Given the description of an element on the screen output the (x, y) to click on. 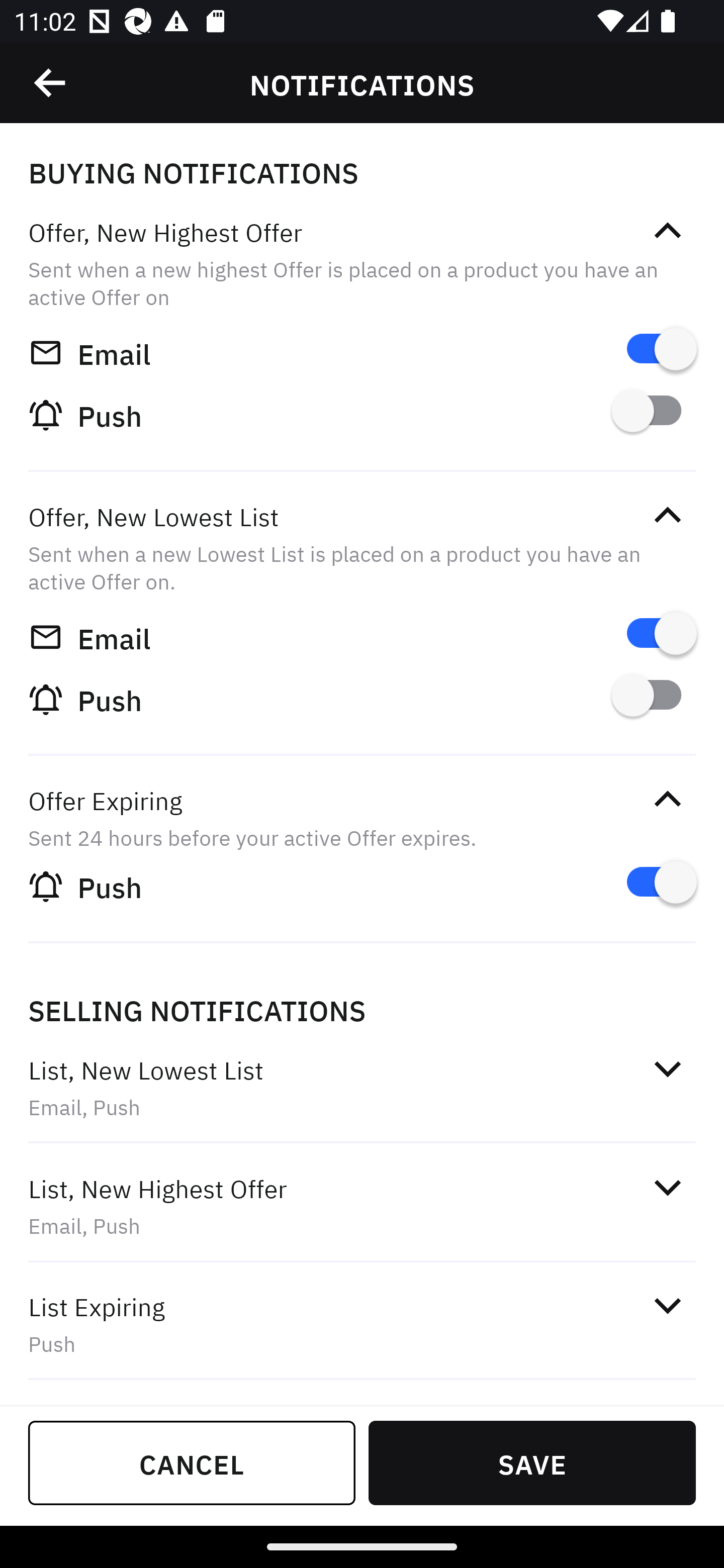
 (50, 83)
 (667, 231)
 (667, 514)
 (667, 799)
List, New Lowest List  Email, Push (361, 1087)
 (667, 1068)
List, New Highest Offer  Email, Push (361, 1206)
 (667, 1187)
List Expiring  Push (361, 1323)
 (667, 1305)
CANCEL (191, 1462)
SAVE (531, 1462)
